Given the description of an element on the screen output the (x, y) to click on. 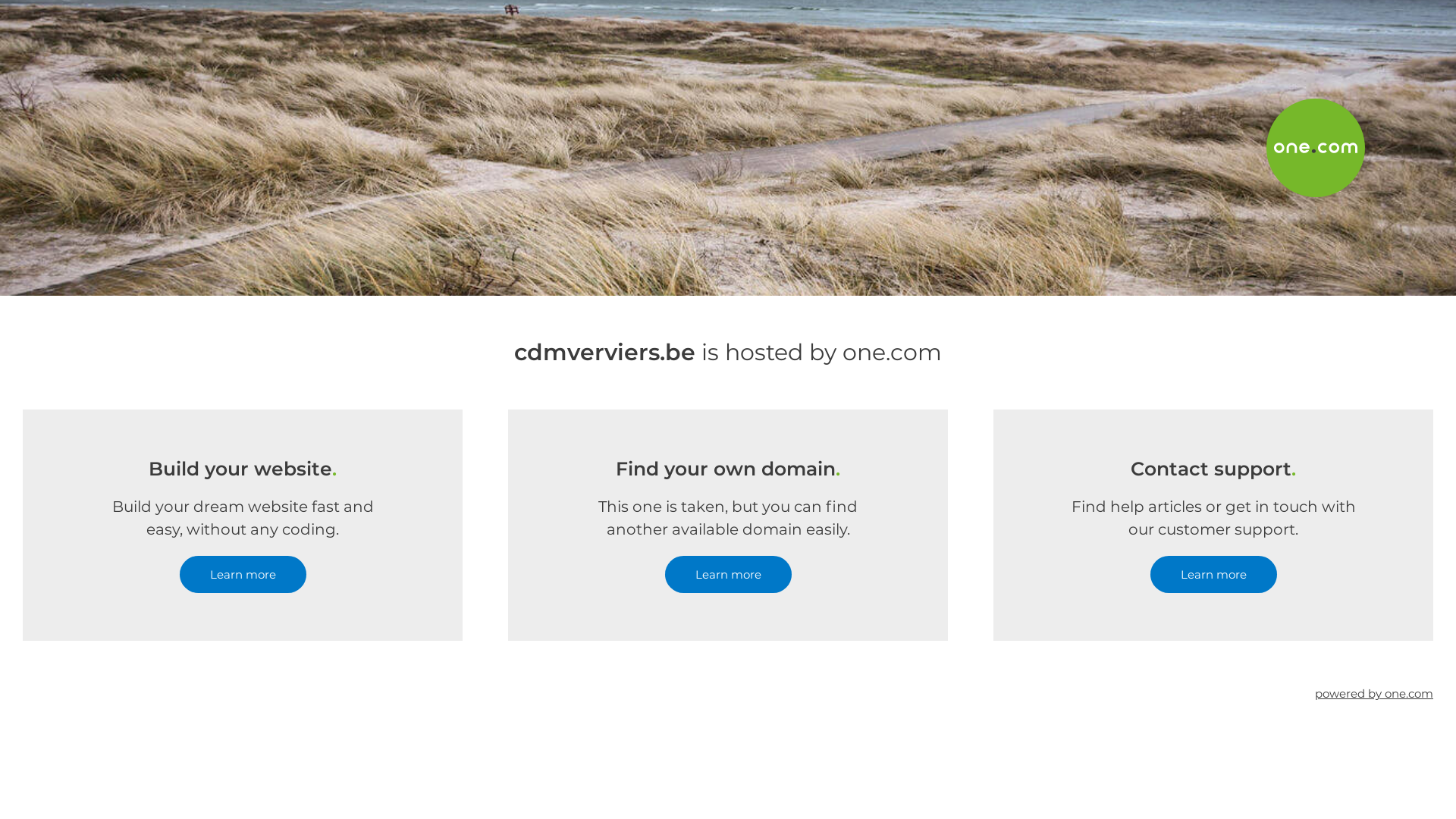
Learn more Element type: text (241, 574)
Learn more Element type: text (1212, 574)
powered by one.com Element type: text (1373, 693)
Learn more Element type: text (727, 574)
